Given the description of an element on the screen output the (x, y) to click on. 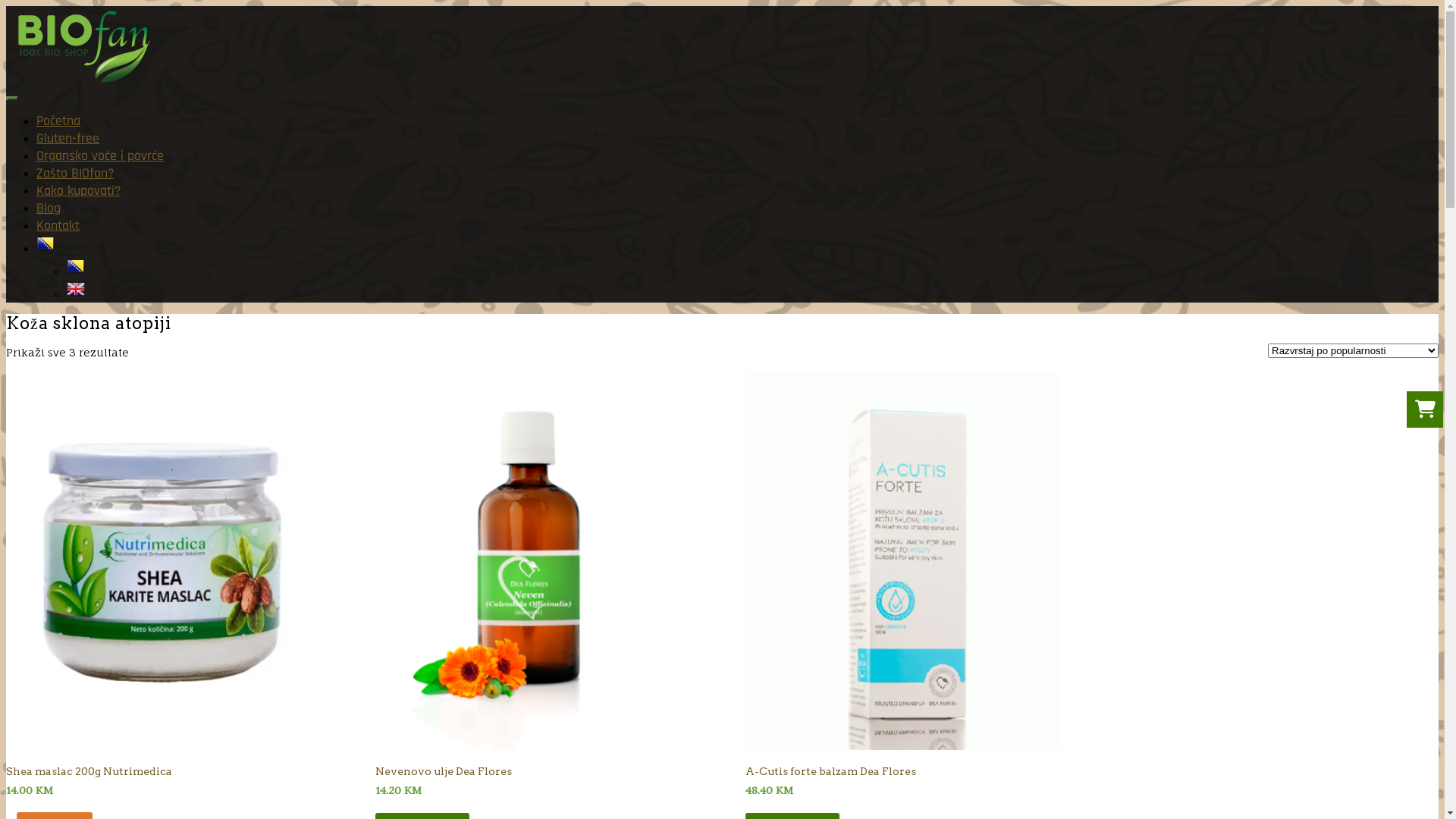
Bosnian Element type: hover (45, 248)
Kontakt Element type: text (57, 225)
Bosnian Element type: hover (75, 270)
Blog Element type: text (48, 207)
Gluten-free Element type: text (67, 138)
Skip to content Element type: text (5, 5)
Kako kupovati? Element type: text (78, 190)
English Element type: hover (75, 293)
